Given the description of an element on the screen output the (x, y) to click on. 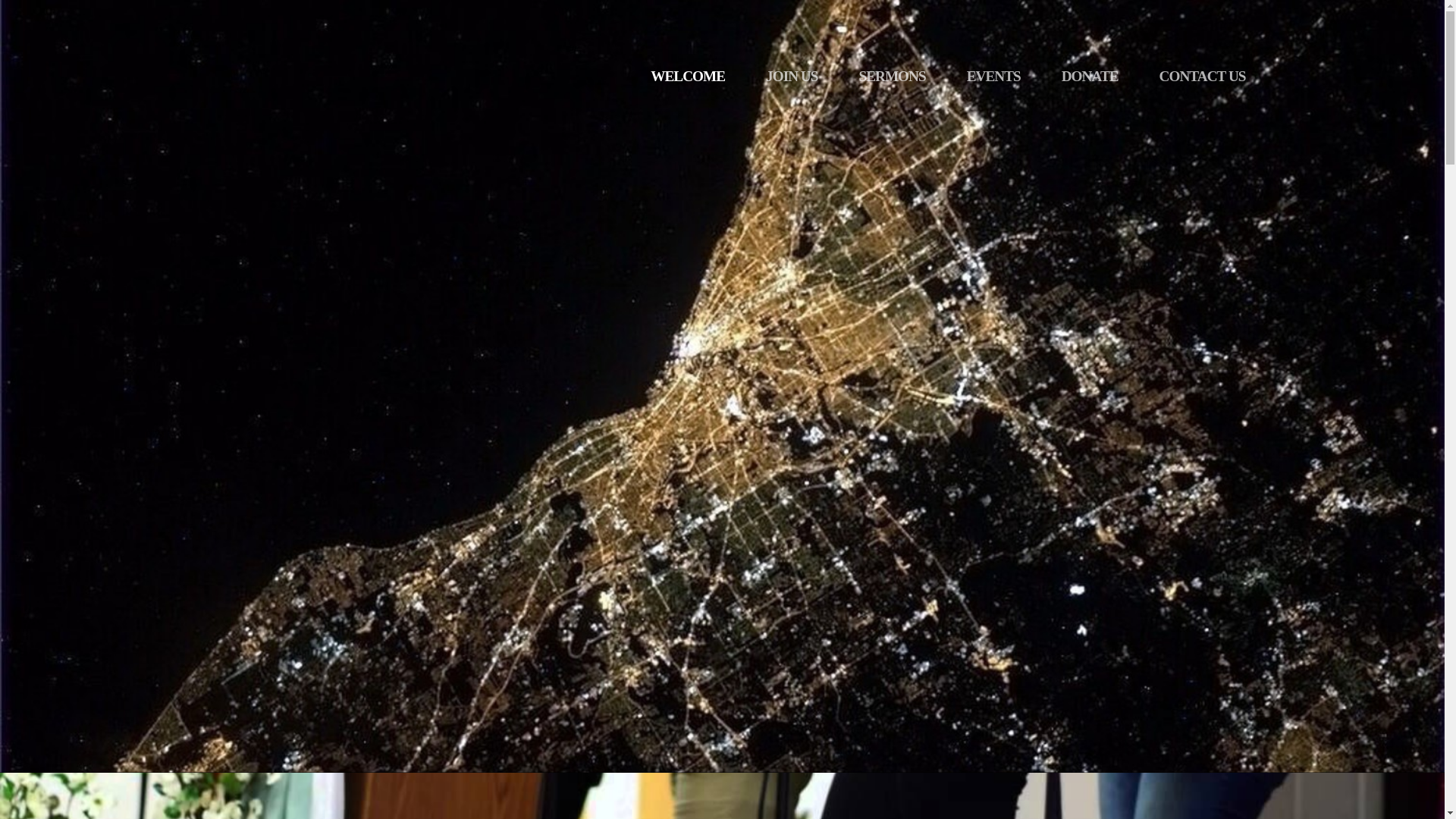
EVENTS (993, 76)
SERMONS (891, 76)
JOIN US (791, 76)
DONATE (1089, 76)
WELCOME (687, 76)
CONTACT US (1202, 76)
